Given the description of an element on the screen output the (x, y) to click on. 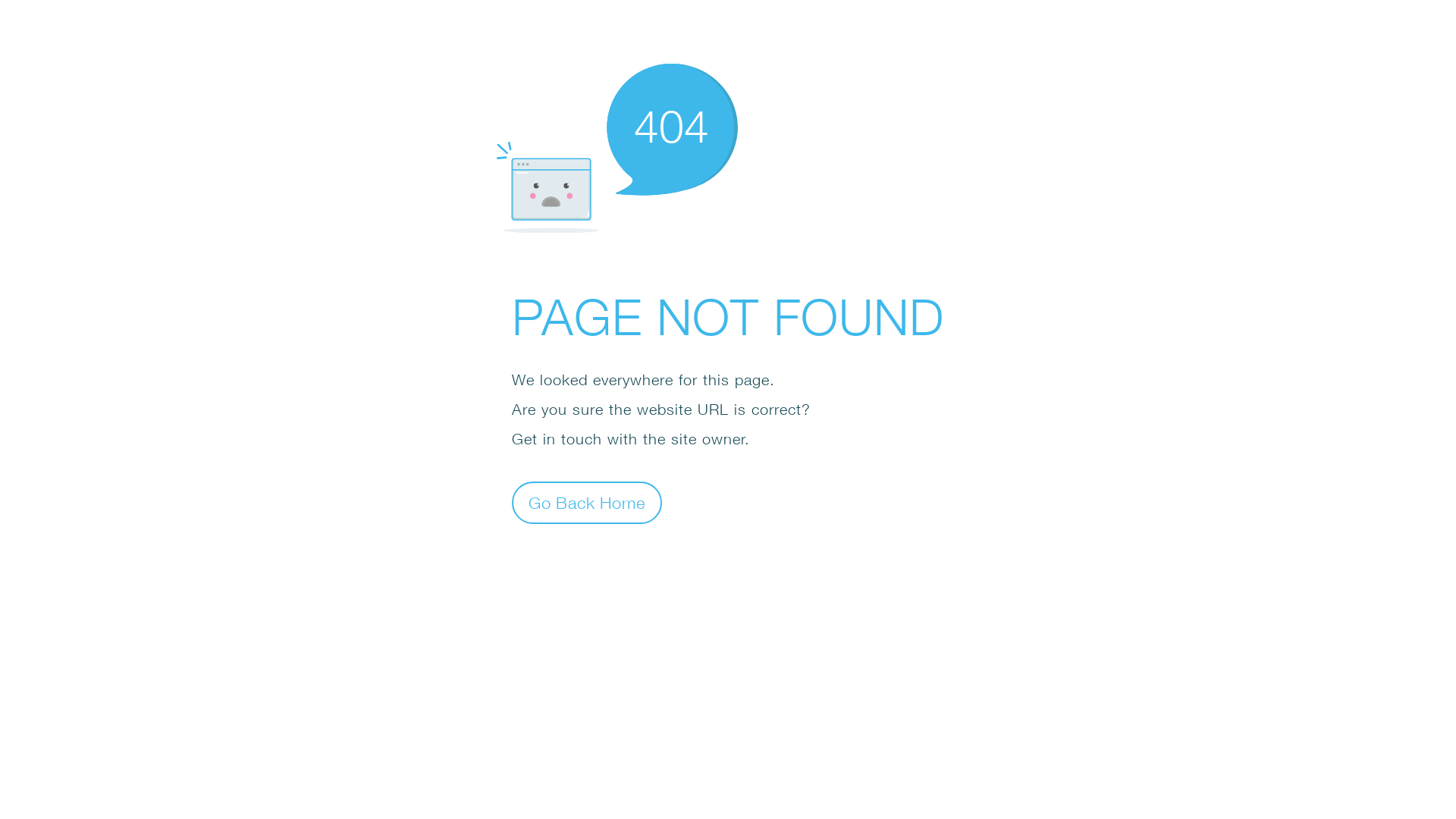
Go Back Home Element type: text (586, 502)
